Given the description of an element on the screen output the (x, y) to click on. 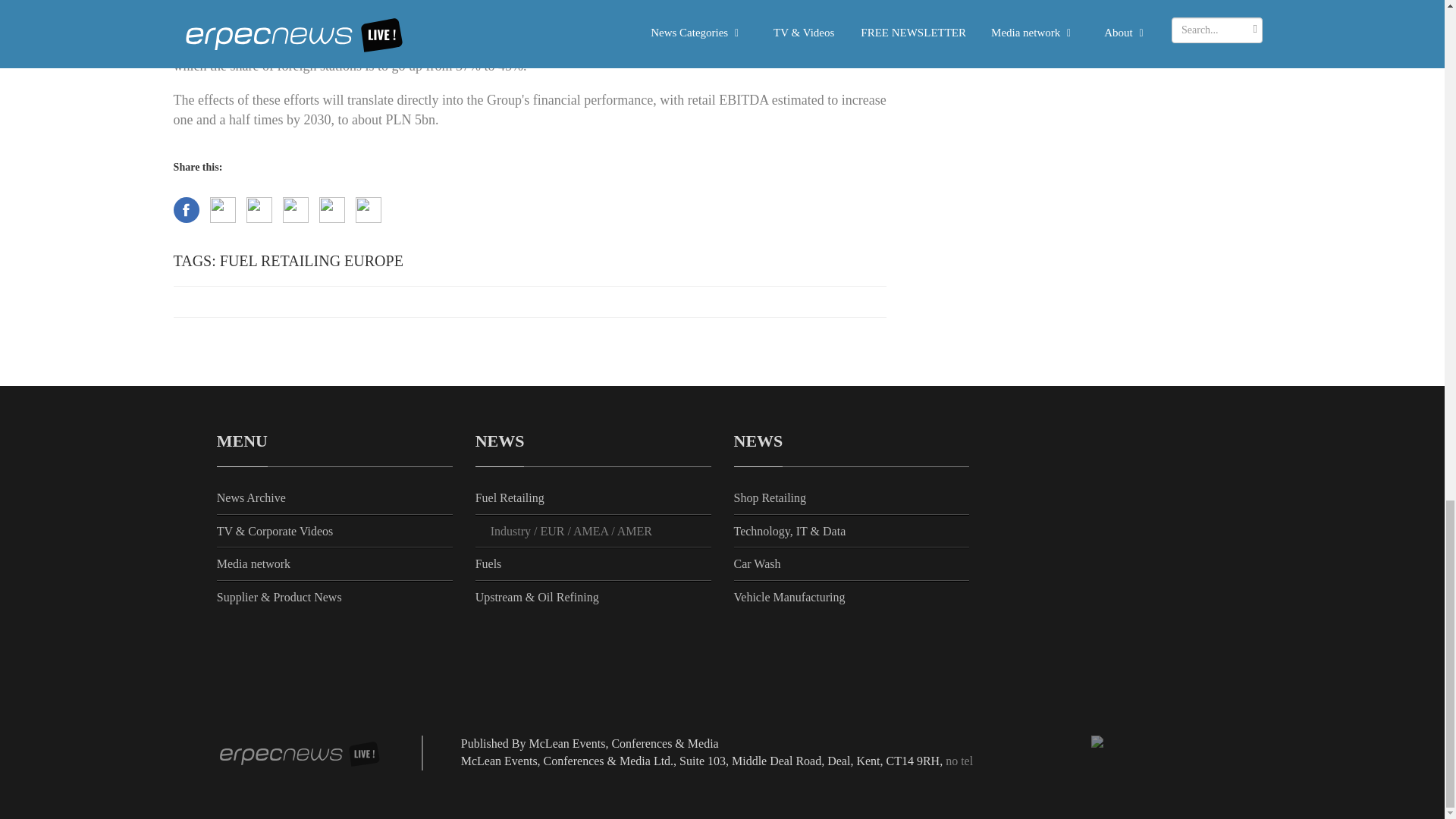
AMEA (592, 530)
EUR (553, 530)
Industry (512, 530)
Fuel Retailing (510, 497)
Media network (252, 563)
News Archive (250, 497)
AMER (634, 530)
